Given the description of an element on the screen output the (x, y) to click on. 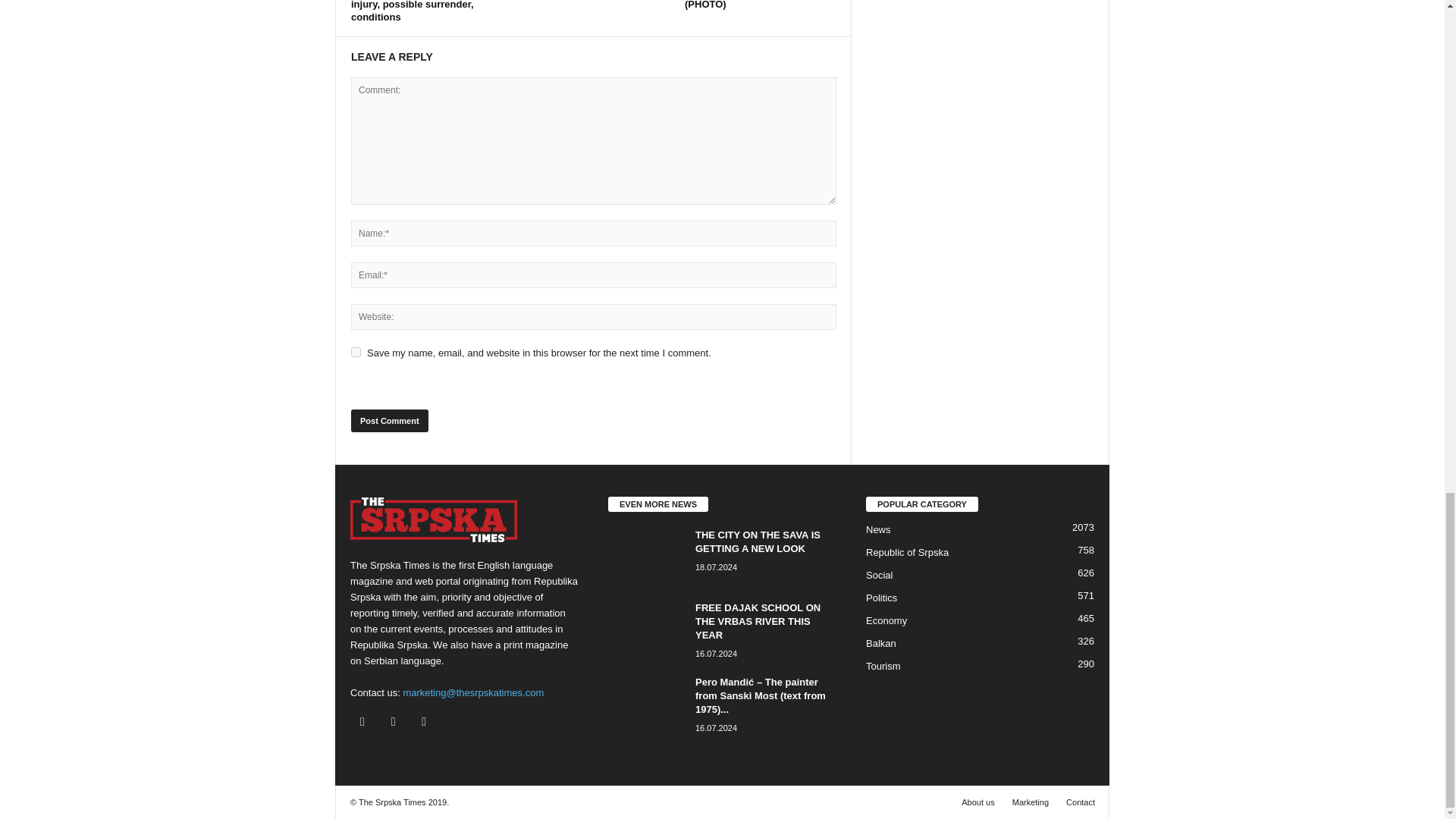
yes (355, 352)
Post Comment (389, 420)
